Given the description of an element on the screen output the (x, y) to click on. 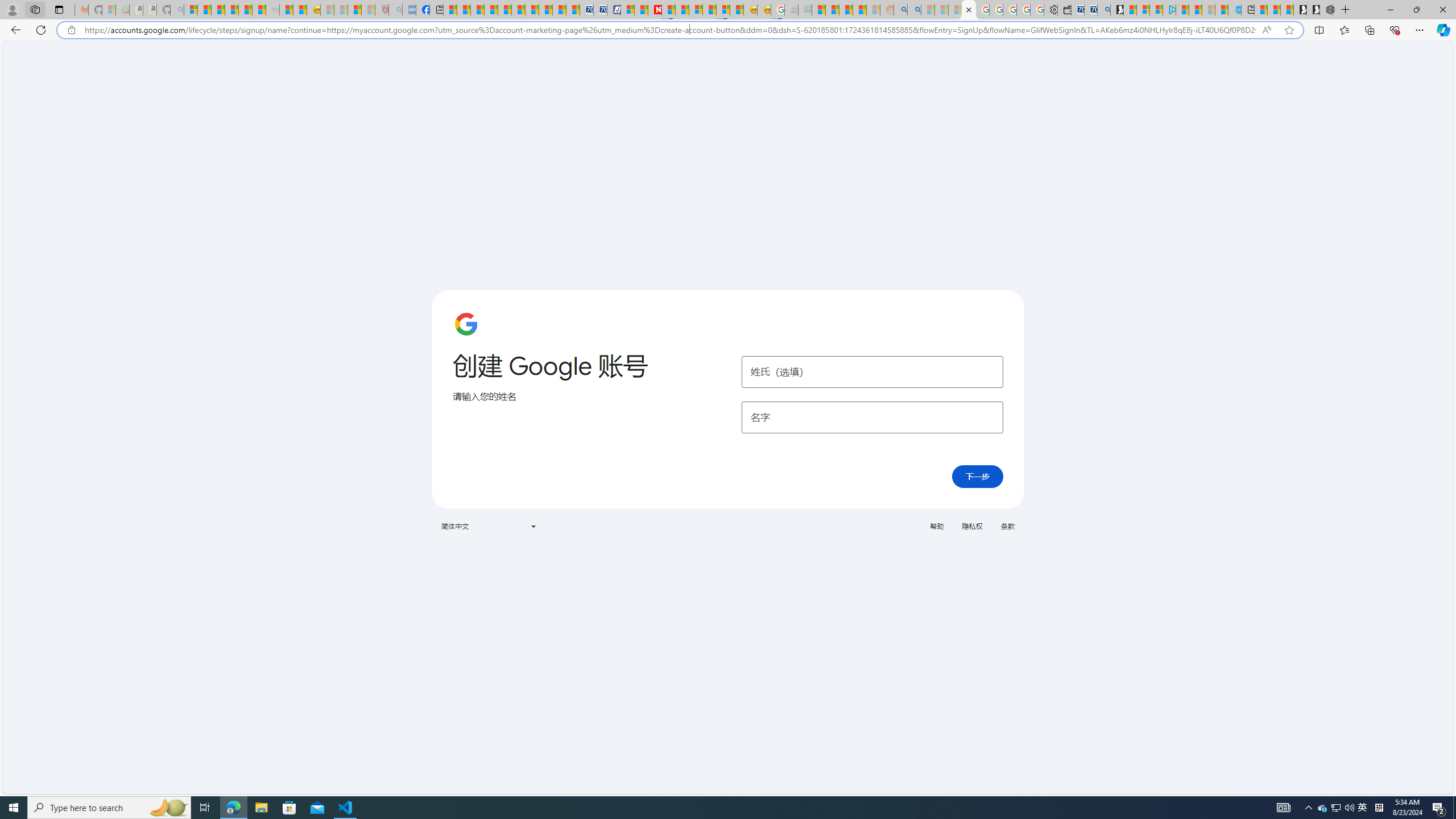
Wallet (1063, 9)
